Given the description of an element on the screen output the (x, y) to click on. 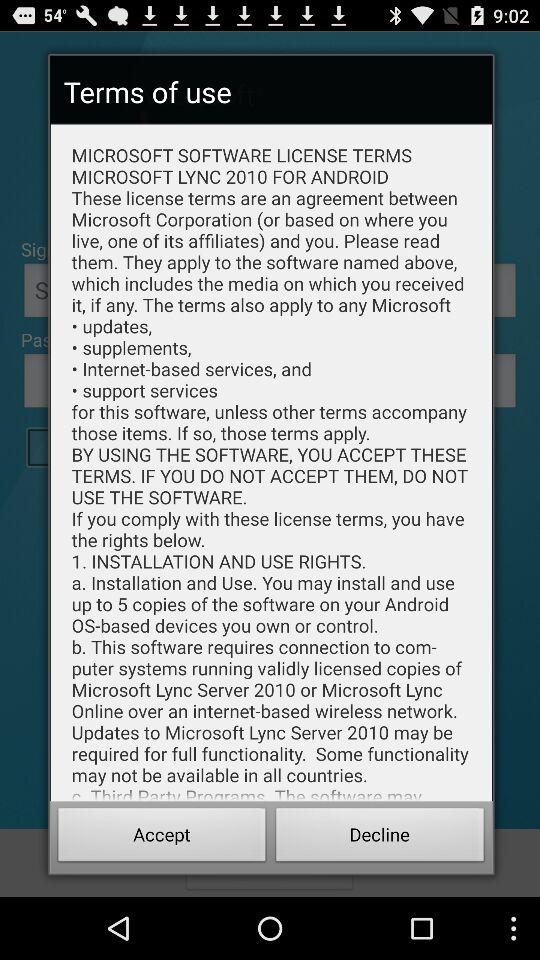
launch decline (380, 837)
